Given the description of an element on the screen output the (x, y) to click on. 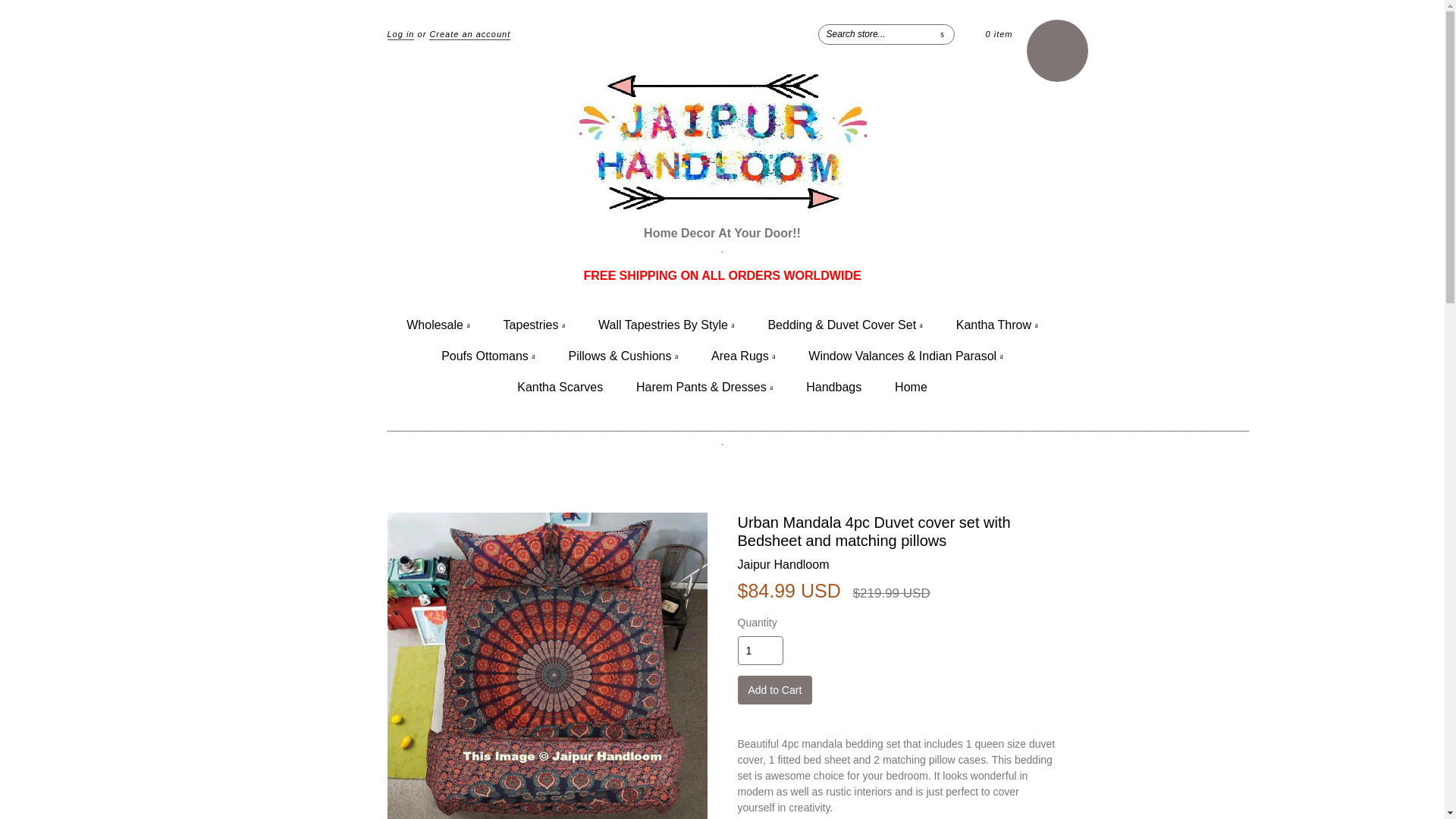
Wall Tapestries By Style (665, 324)
0 item (999, 34)
Log in (400, 34)
Create an account (470, 34)
1 (759, 650)
Search (942, 33)
Tapestries (534, 324)
Wholesale (437, 324)
